Given the description of an element on the screen output the (x, y) to click on. 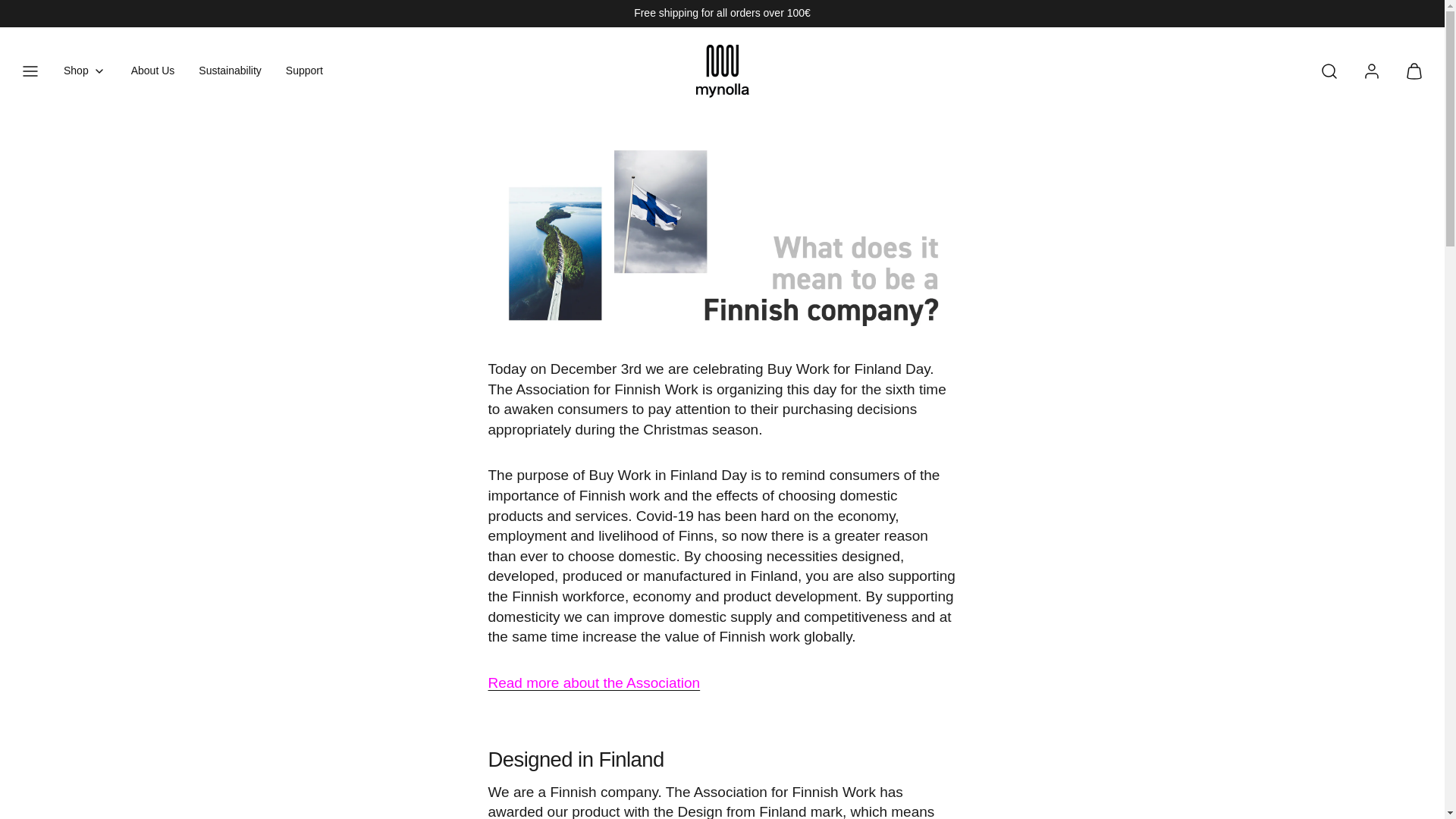
Menu (29, 71)
Account (1372, 71)
Search (1329, 71)
Sustainability (229, 71)
About Us (153, 71)
Support (303, 71)
Shop (85, 71)
